Given the description of an element on the screen output the (x, y) to click on. 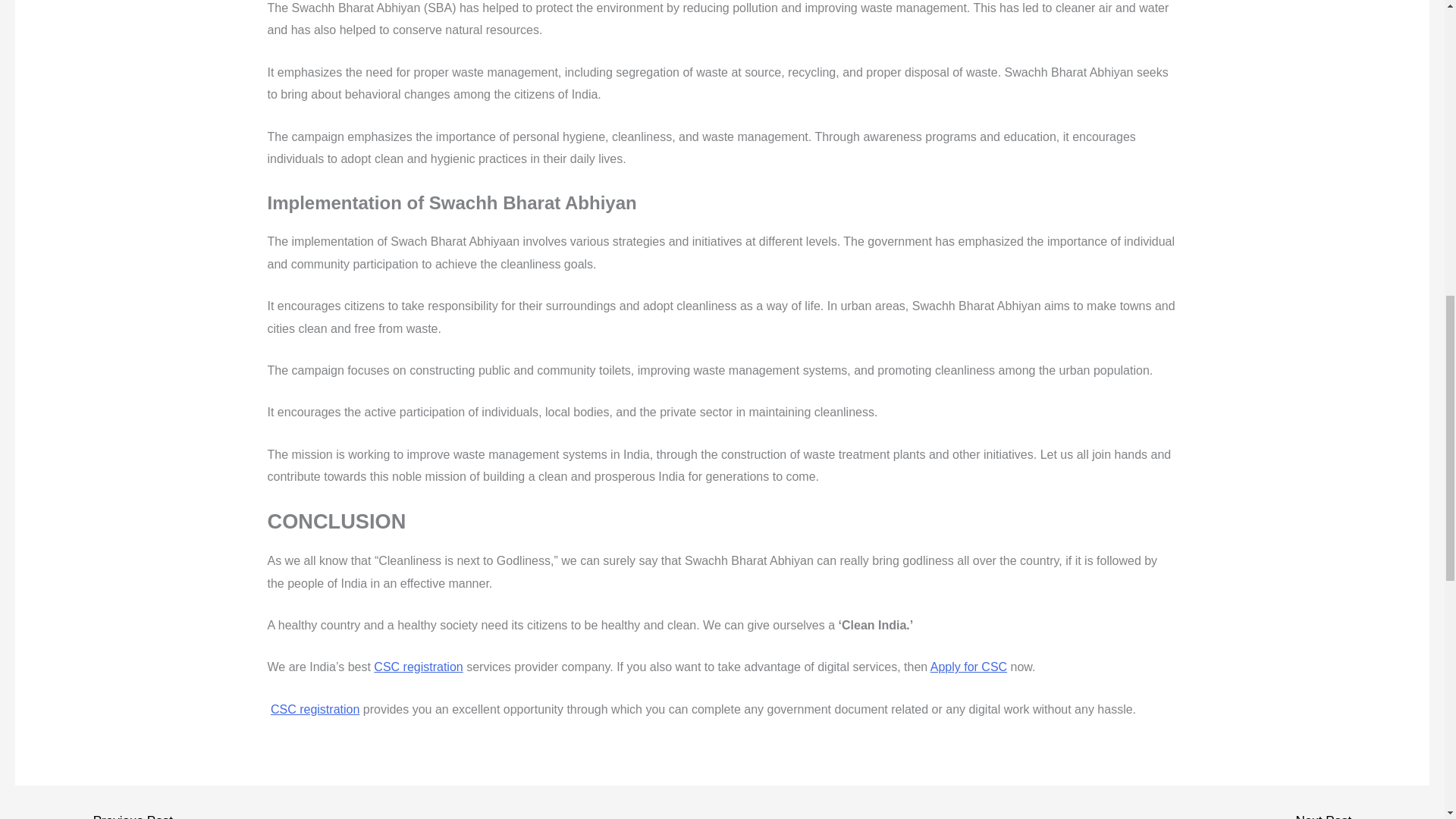
Apply for CSC (968, 666)
CSC registration (314, 708)
CSC registration (418, 666)
